Given the description of an element on the screen output the (x, y) to click on. 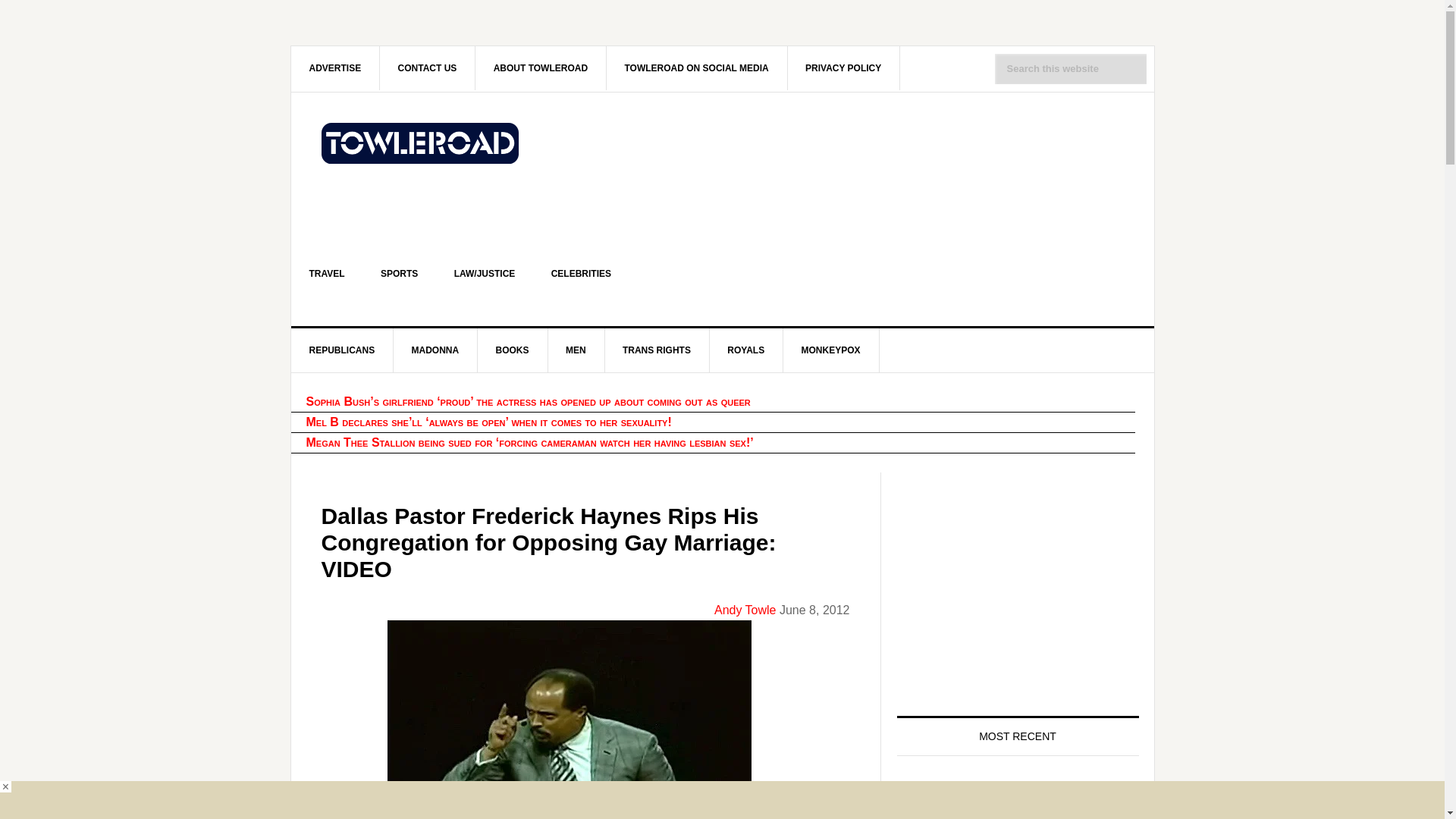
ABOUT TOWLEROAD (541, 67)
CONTACT US (428, 67)
ADVERTISE (335, 67)
CELEBRITIES (580, 273)
PRIVACY POLICY (843, 67)
close (5, 786)
SPORTS (398, 273)
MADONNA (436, 349)
